Given the description of an element on the screen output the (x, y) to click on. 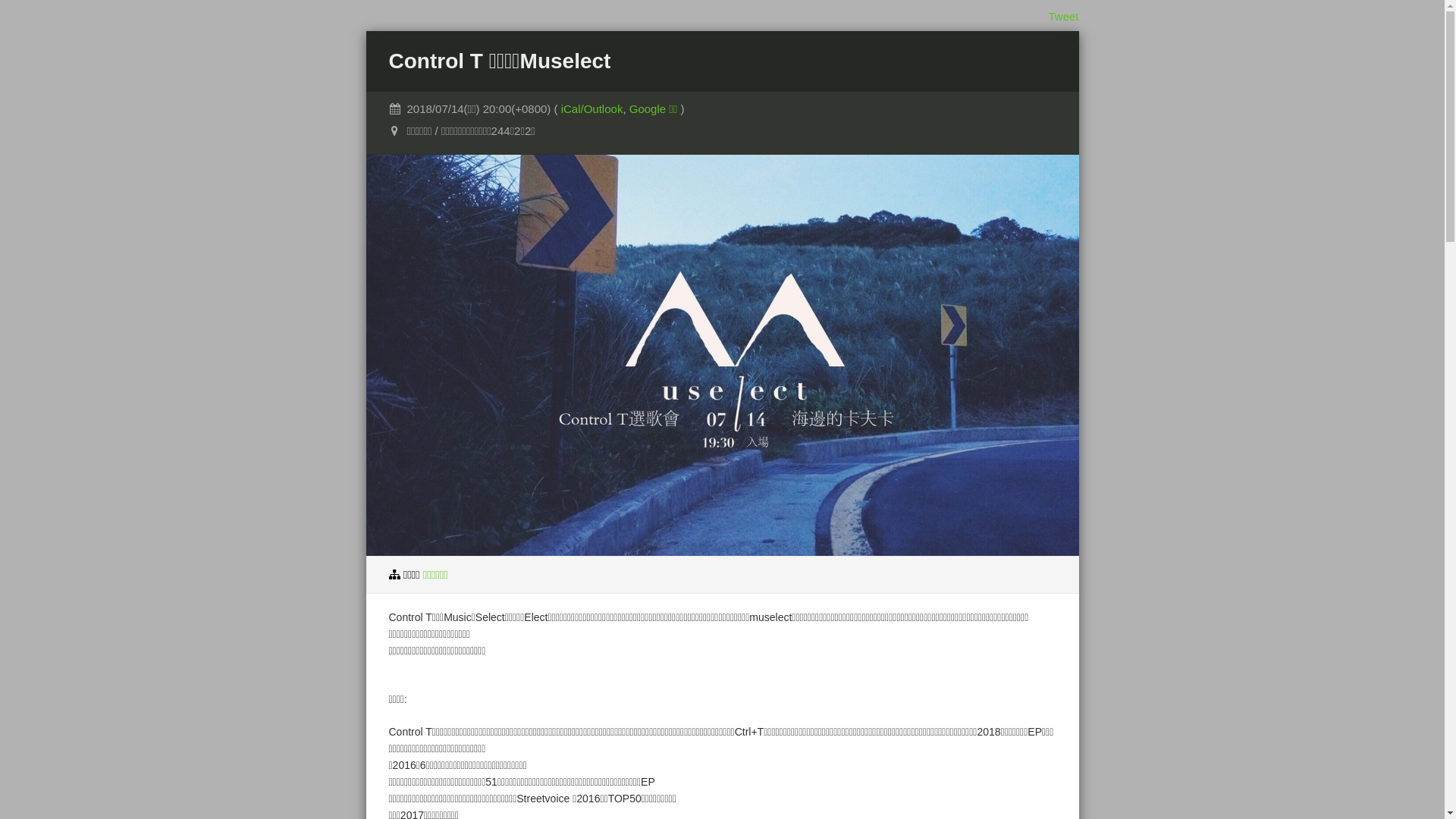
Tweet Element type: text (1063, 15)
iCal/Outlook Element type: text (592, 108)
